Given the description of an element on the screen output the (x, y) to click on. 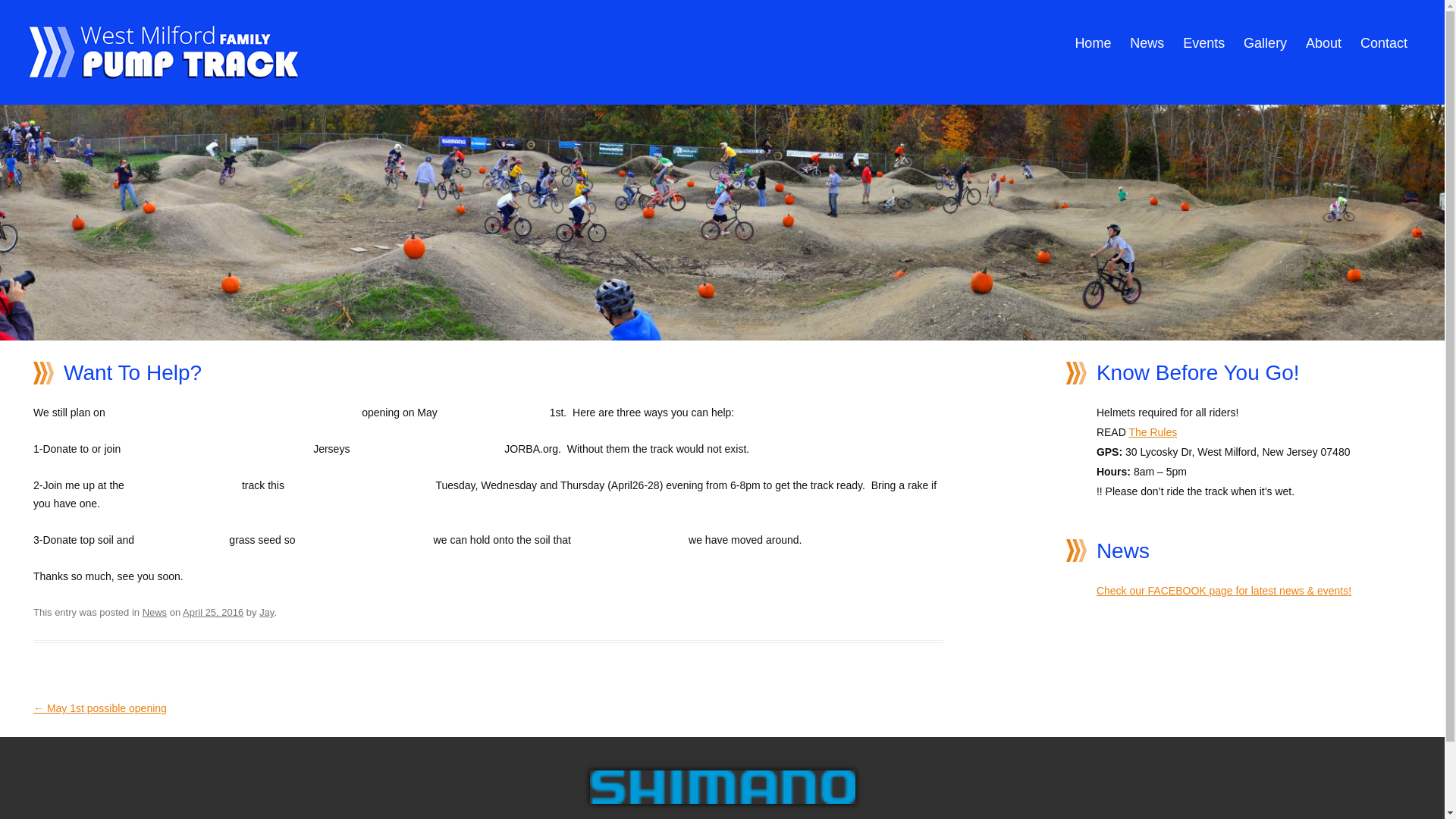
News (1146, 42)
Contact (1383, 42)
About (1323, 42)
Skip to content (1284, 23)
Events (1203, 42)
Skip to content (1284, 23)
View all posts by Jay (266, 612)
News (154, 612)
Home (1092, 42)
Gallery (1265, 42)
West Mildford Family Pump Track (164, 80)
The Rules (1152, 431)
April 25, 2016 (213, 612)
Jay (266, 612)
1:48 pm (213, 612)
